Given the description of an element on the screen output the (x, y) to click on. 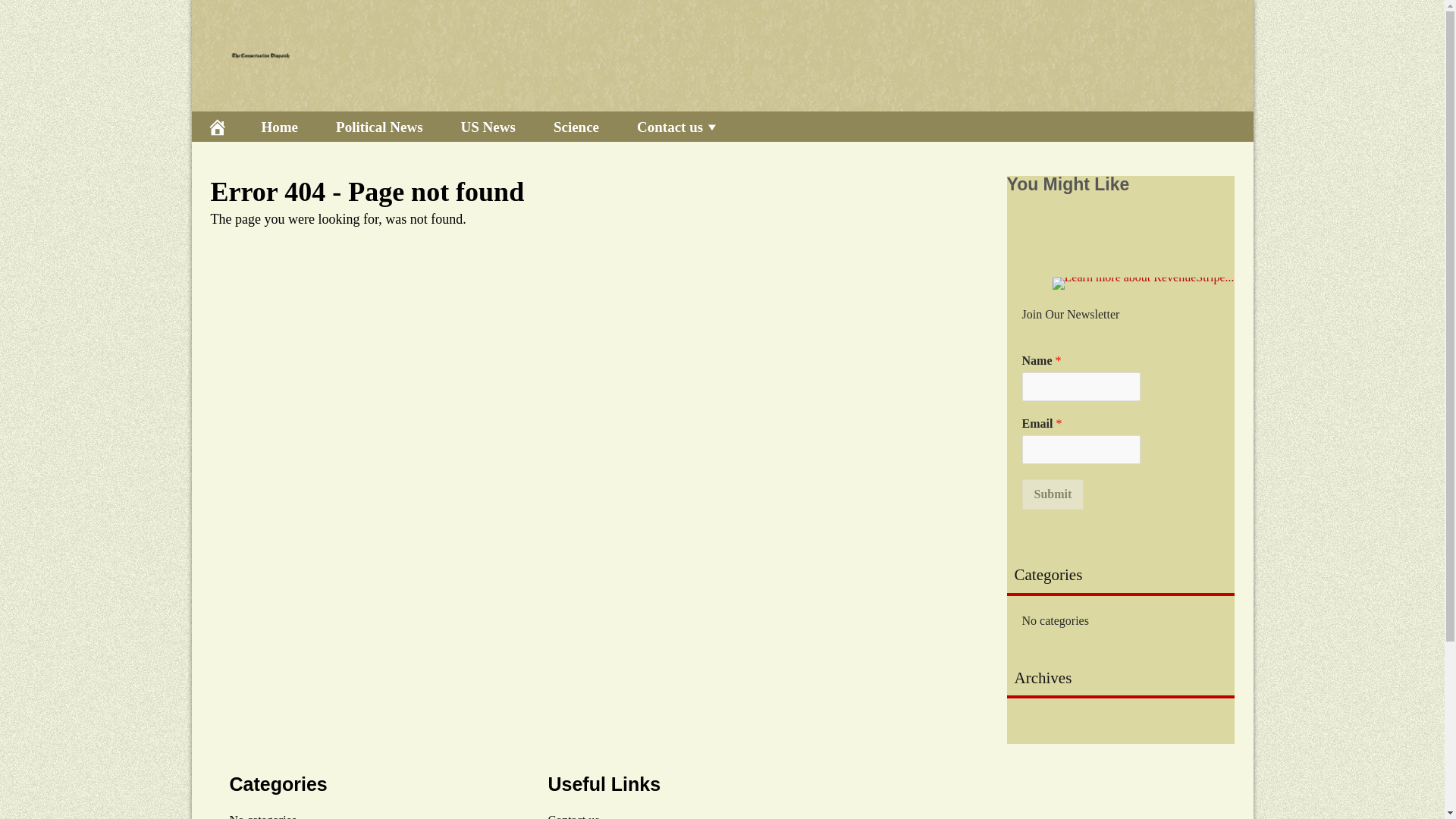
Contact us (677, 126)
Political News (379, 126)
Contact us (572, 816)
Home (280, 126)
US News (488, 126)
Science (575, 126)
Home Political News US News Science Contact us (721, 126)
Submit (1053, 494)
